Given the description of an element on the screen output the (x, y) to click on. 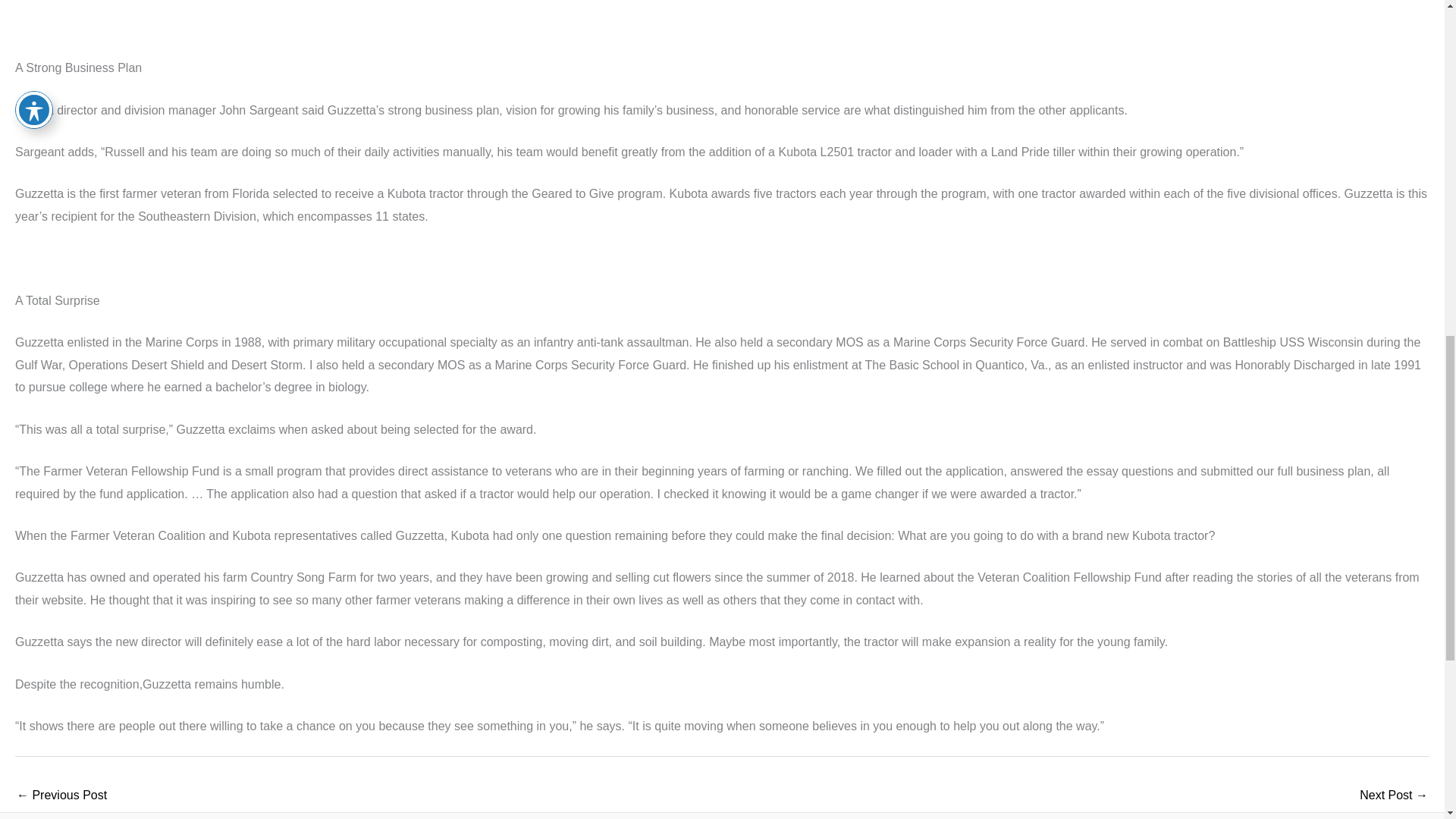
2020 Citrus Forecast (1393, 796)
Barking Up the Right Tree (61, 796)
